Given the description of an element on the screen output the (x, y) to click on. 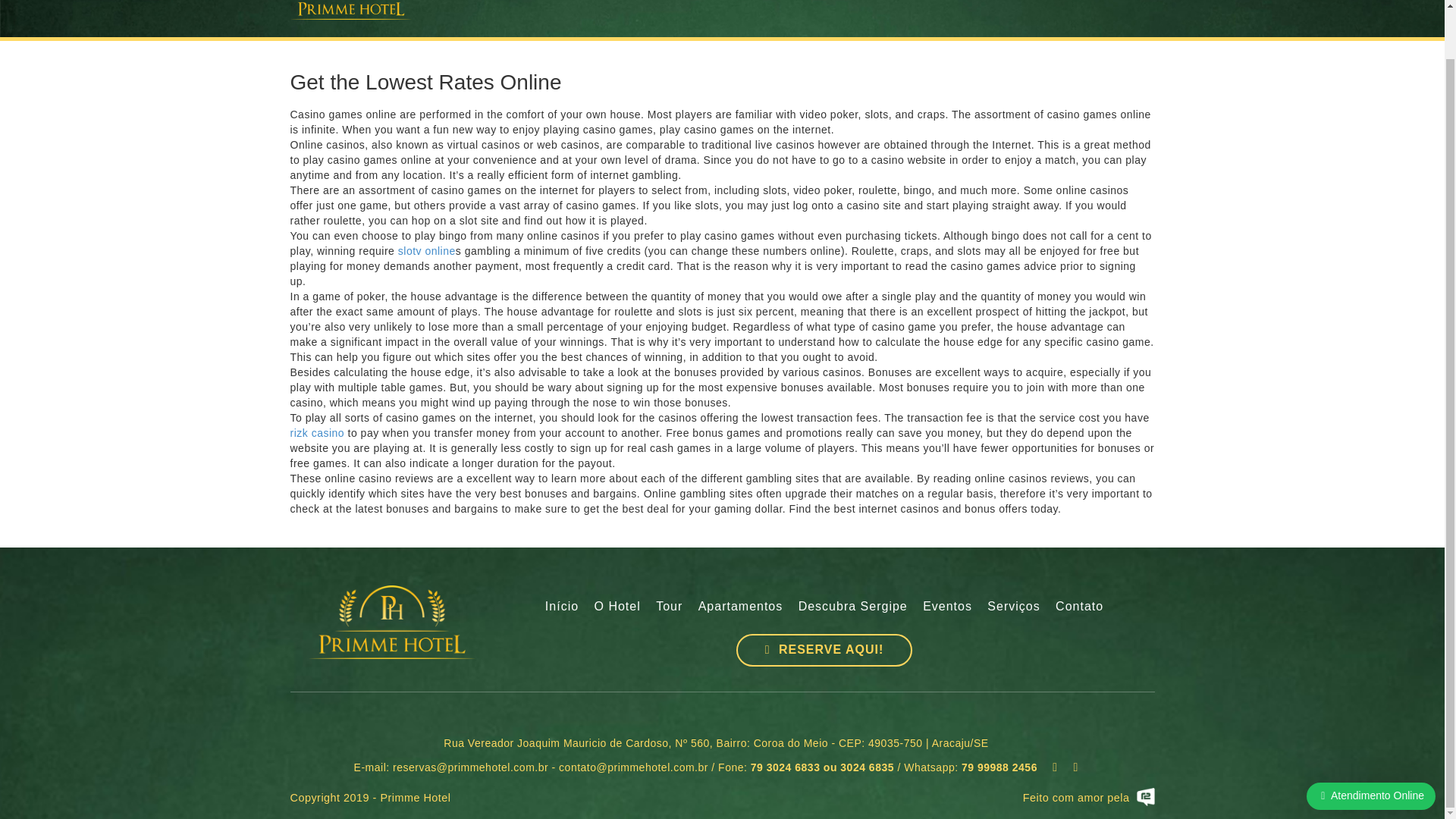
Feito com amor pela   (1054, 797)
Eventos (947, 606)
Eventos (947, 606)
slotv online (426, 250)
Descubra Sergipe (852, 606)
O Hotel (617, 606)
Apartamentos (740, 606)
Tour (669, 606)
O Hotel (617, 606)
Primme Hotel (392, 622)
Reservas (824, 649)
RESERVE AQUI! (824, 649)
Contato (1079, 606)
Tour Virtual (669, 606)
rizk casino (316, 432)
